Given the description of an element on the screen output the (x, y) to click on. 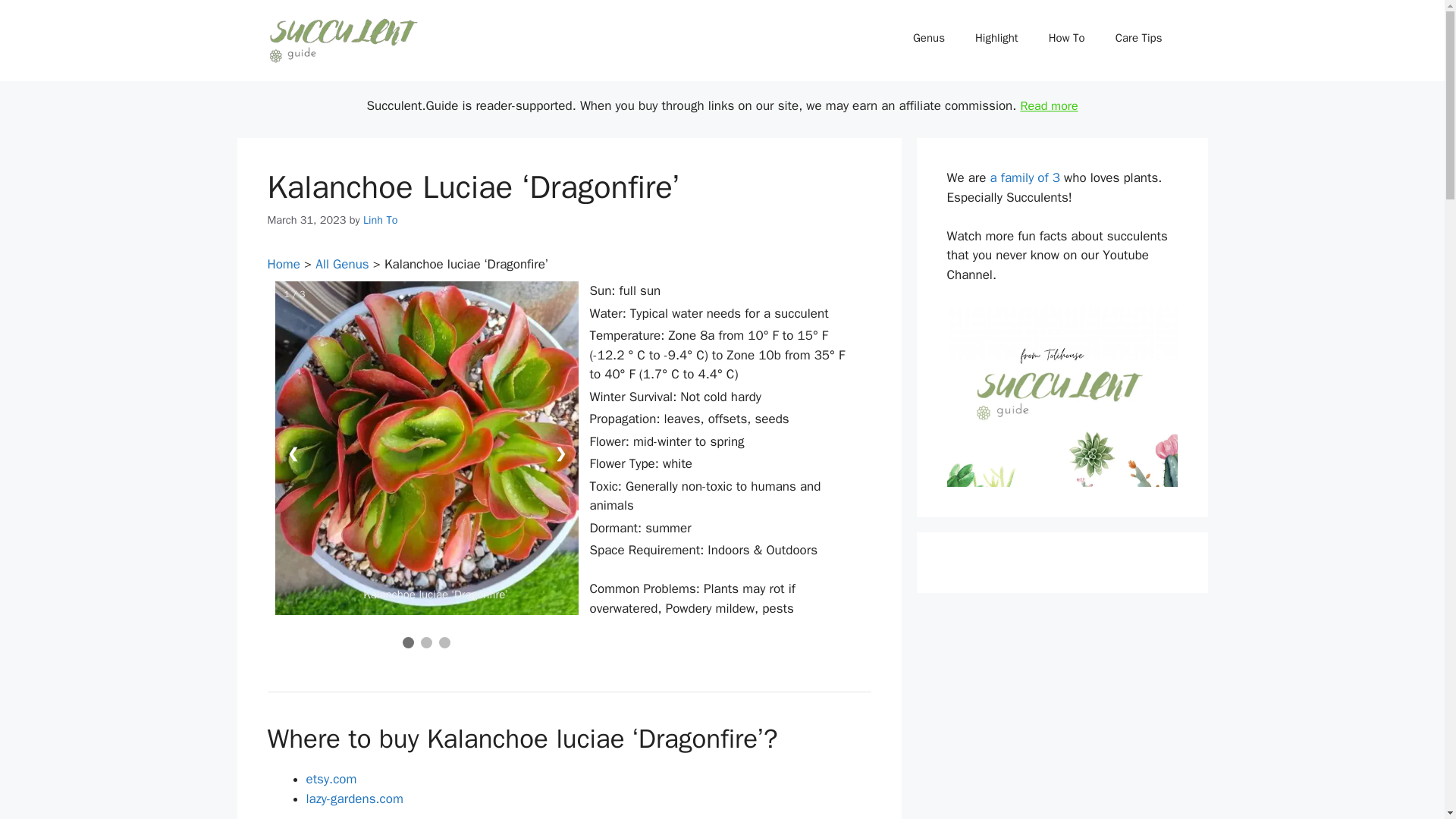
a family of 3 (1024, 177)
Succulent Guide (342, 39)
Succulent Guide (342, 40)
How To (1066, 37)
Care Tips (1138, 37)
lazy-gardens.com (354, 798)
Home (282, 263)
Read more (1048, 105)
Highlight (996, 37)
etsy.com (330, 779)
All Genus (341, 263)
Linh To (379, 219)
View all posts by Linh To (379, 219)
Genus (928, 37)
